Given the description of an element on the screen output the (x, y) to click on. 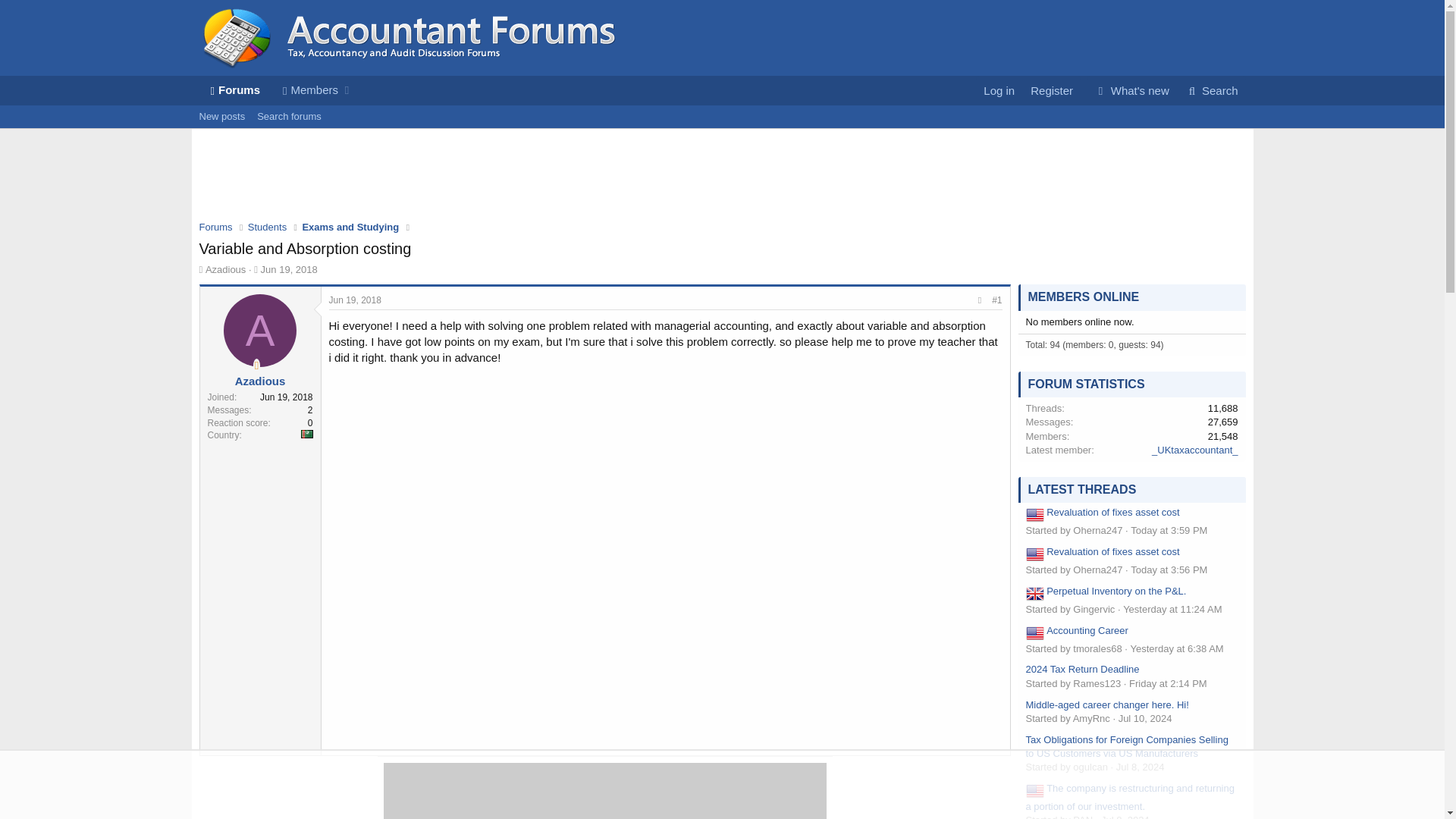
Exams and Studying (349, 227)
Students (266, 227)
Search (1211, 90)
Start date (255, 269)
Jun 19, 2018 at 7:50 AM (274, 107)
Members (288, 269)
Forums (305, 90)
3rd party ad content (214, 227)
Log in (355, 299)
What's new (998, 90)
New posts (1131, 90)
Jun 19, 2018 (221, 116)
Forums (355, 299)
